Given the description of an element on the screen output the (x, y) to click on. 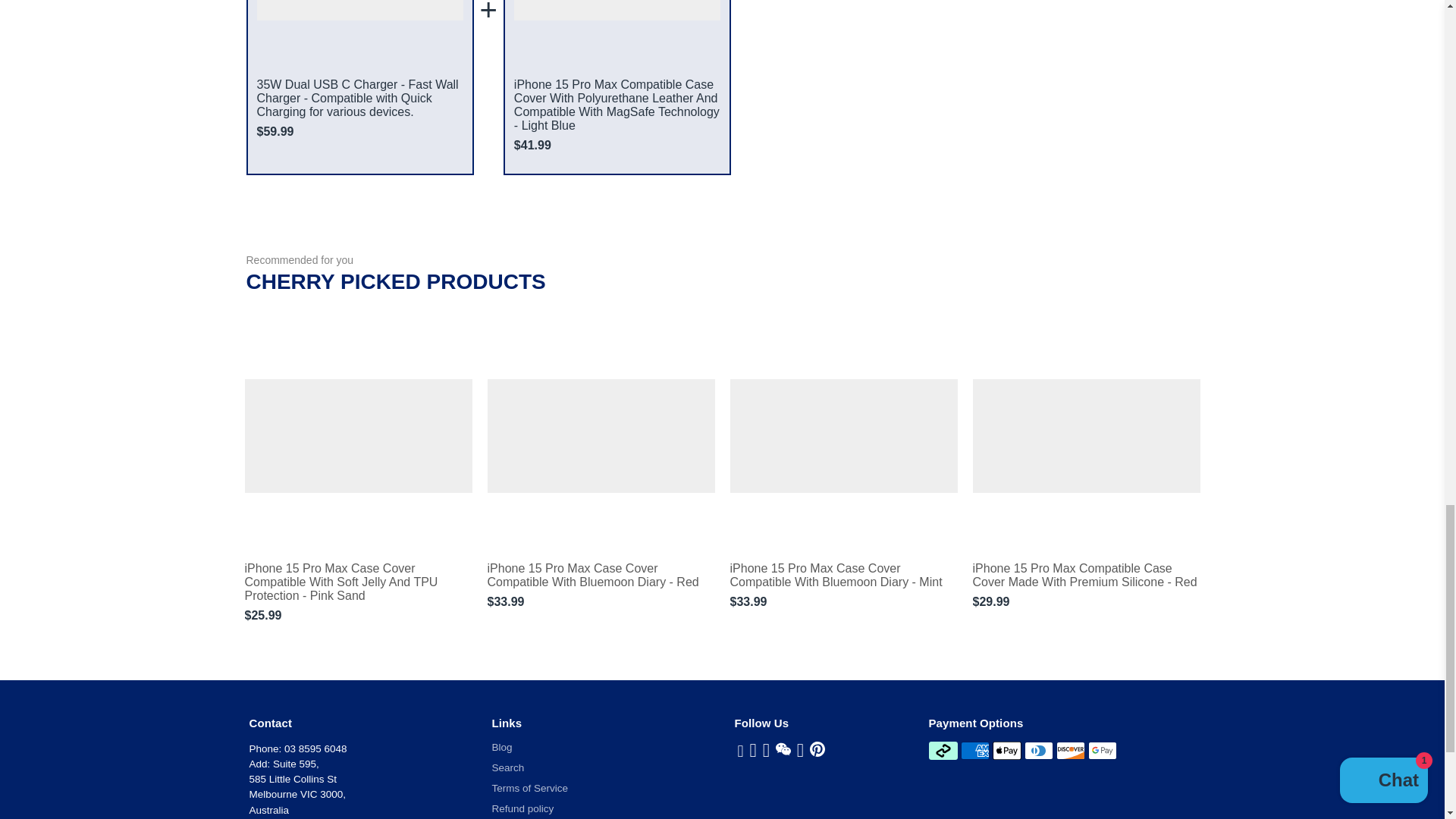
Afterpay (942, 751)
American Express (975, 751)
Google Pay (1101, 751)
Diners Club (1038, 751)
Apple Pay (1007, 751)
Discover (1070, 751)
WeChat icon (783, 749)
